Given the description of an element on the screen output the (x, y) to click on. 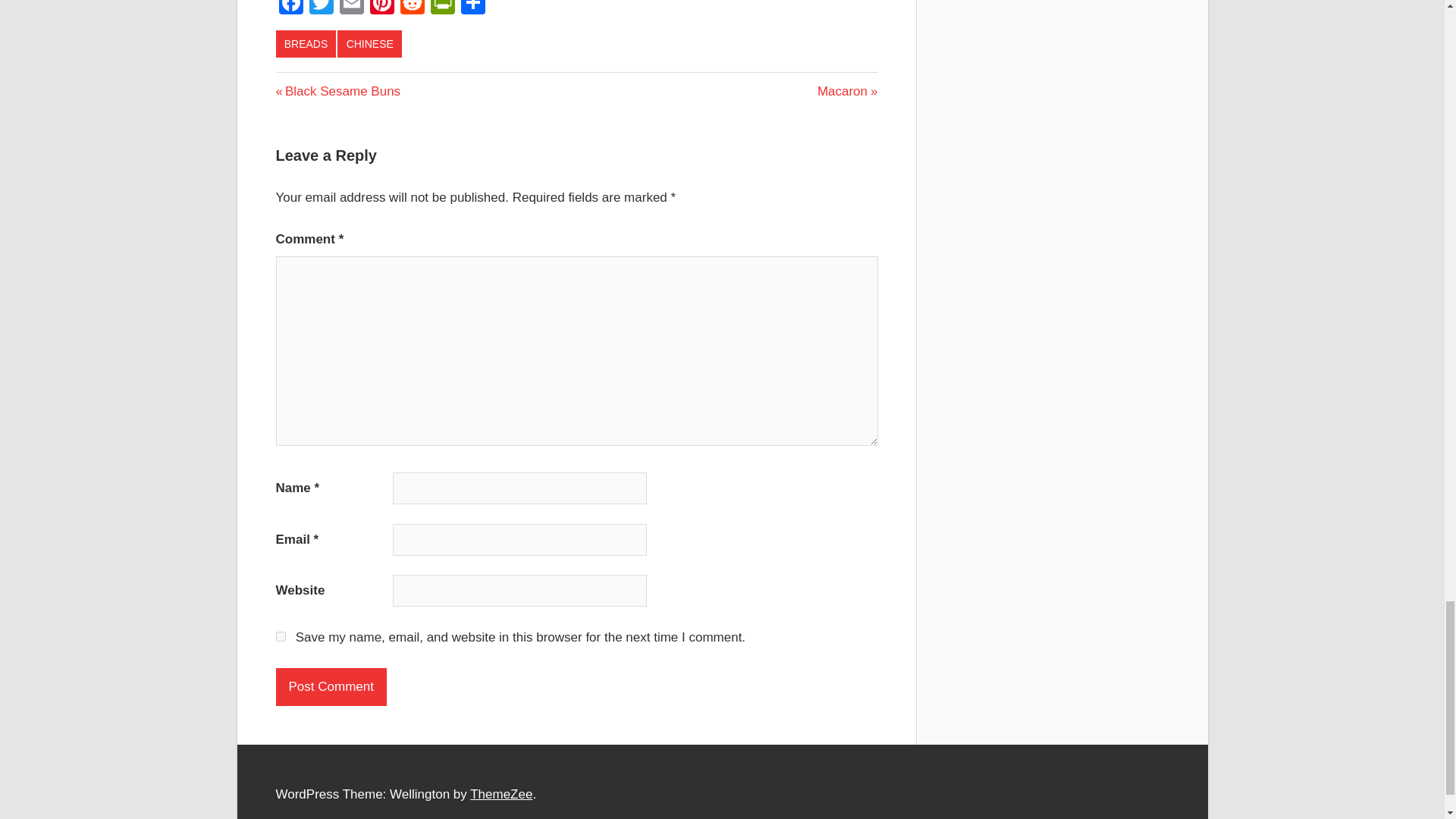
BREADS (306, 43)
Pinterest (381, 9)
Reddit (412, 9)
PrintFriendly (443, 9)
Pinterest (381, 9)
Email (351, 9)
ThemeZee (501, 794)
Facebook (290, 9)
Email (351, 9)
Share (472, 9)
Twitter (320, 9)
PrintFriendly (443, 9)
CHINESE (369, 43)
Post Comment (331, 686)
Facebook (290, 9)
